Given the description of an element on the screen output the (x, y) to click on. 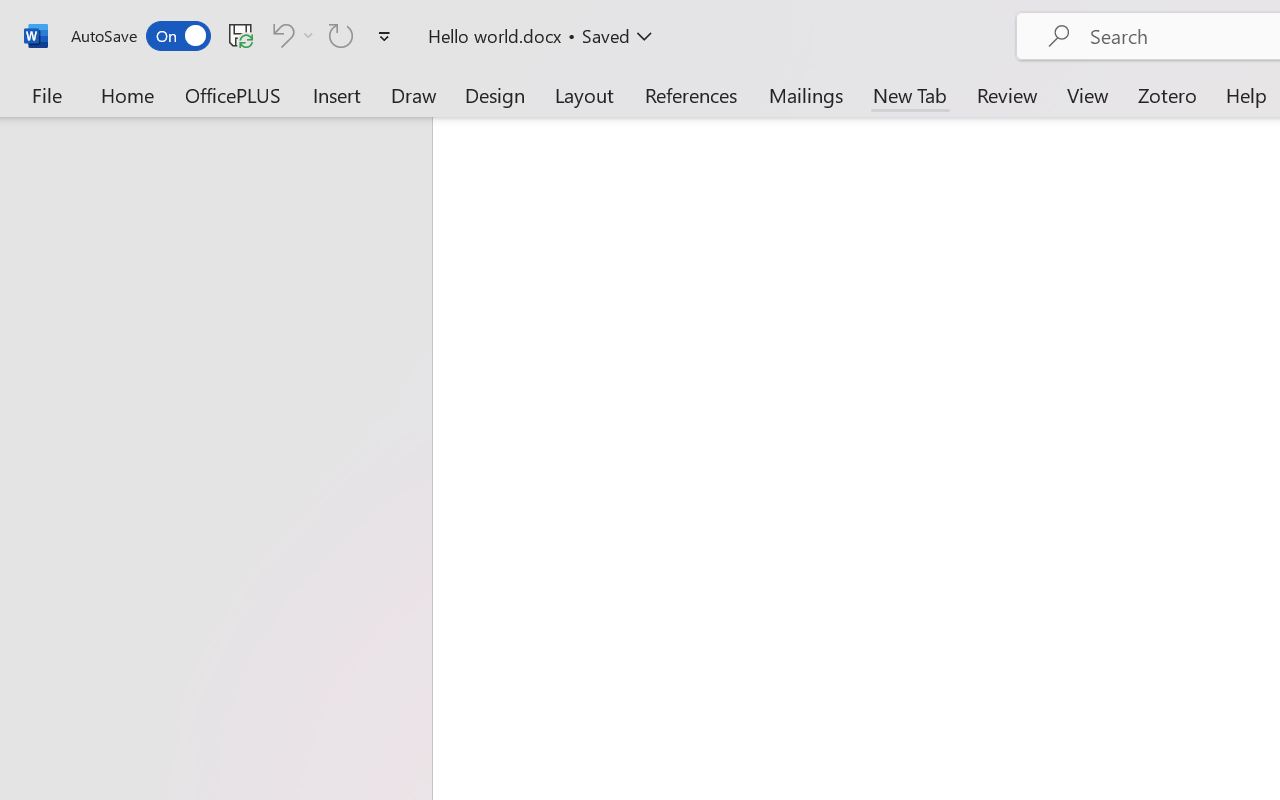
OfficePLUS (233, 94)
Mailings (806, 94)
Save (241, 35)
New Tab (909, 94)
Draw (413, 94)
Review (1007, 94)
References (690, 94)
Zotero (1166, 94)
Home (127, 94)
Layout (584, 94)
AutoSave (140, 35)
Customize Quick Access Toolbar (384, 35)
